Given the description of an element on the screen output the (x, y) to click on. 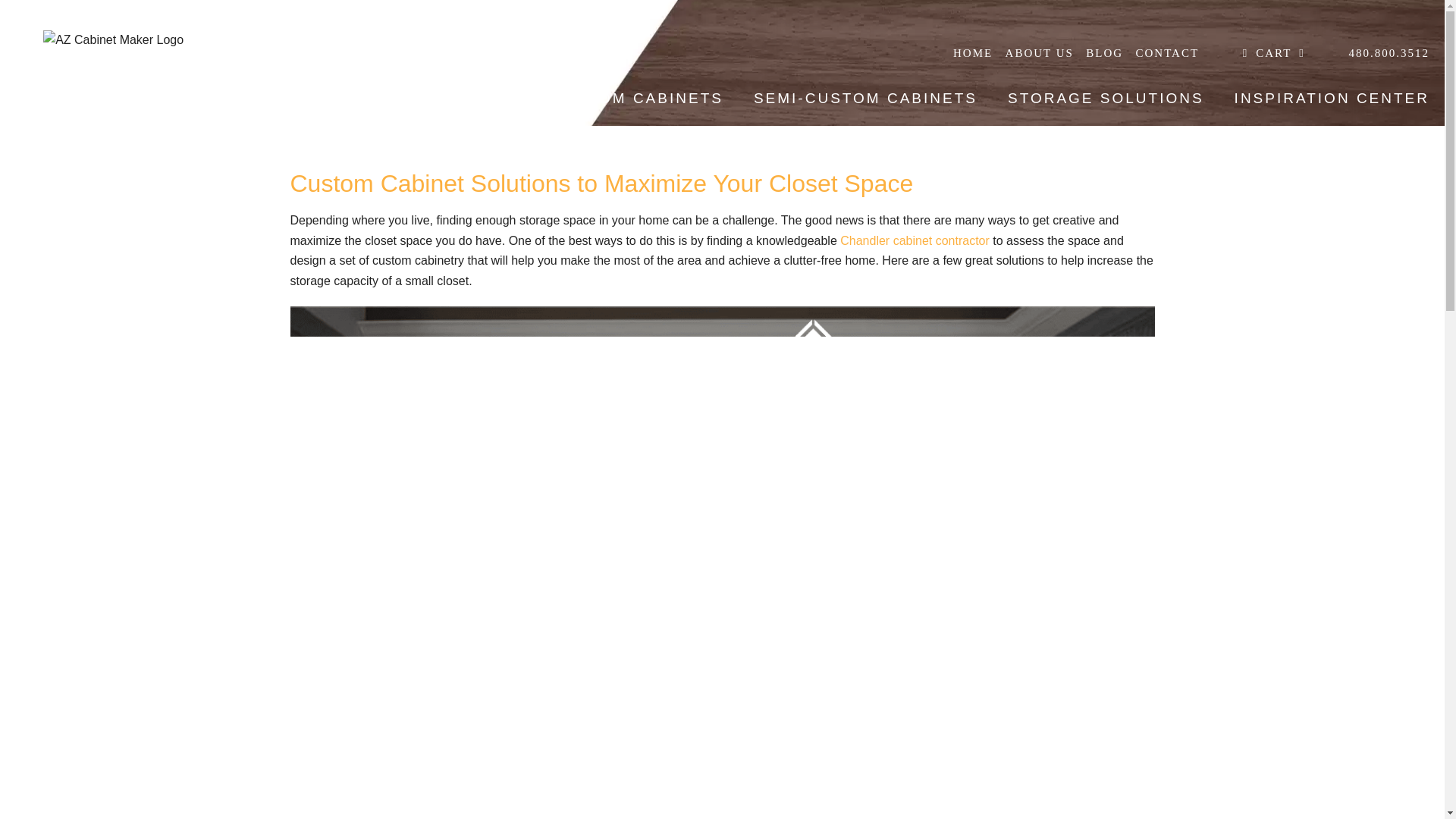
INSPIRATION CENTER (1331, 97)
ABOUT US (1033, 52)
CART (1267, 52)
Chandler cabinet contractor (915, 240)
CUSTOM CABINETS (637, 97)
480.800.3512 (1382, 52)
HOME (967, 52)
BLOG (1098, 52)
STORAGE SOLUTIONS (1105, 97)
CONTACT (1161, 52)
